Given the description of an element on the screen output the (x, y) to click on. 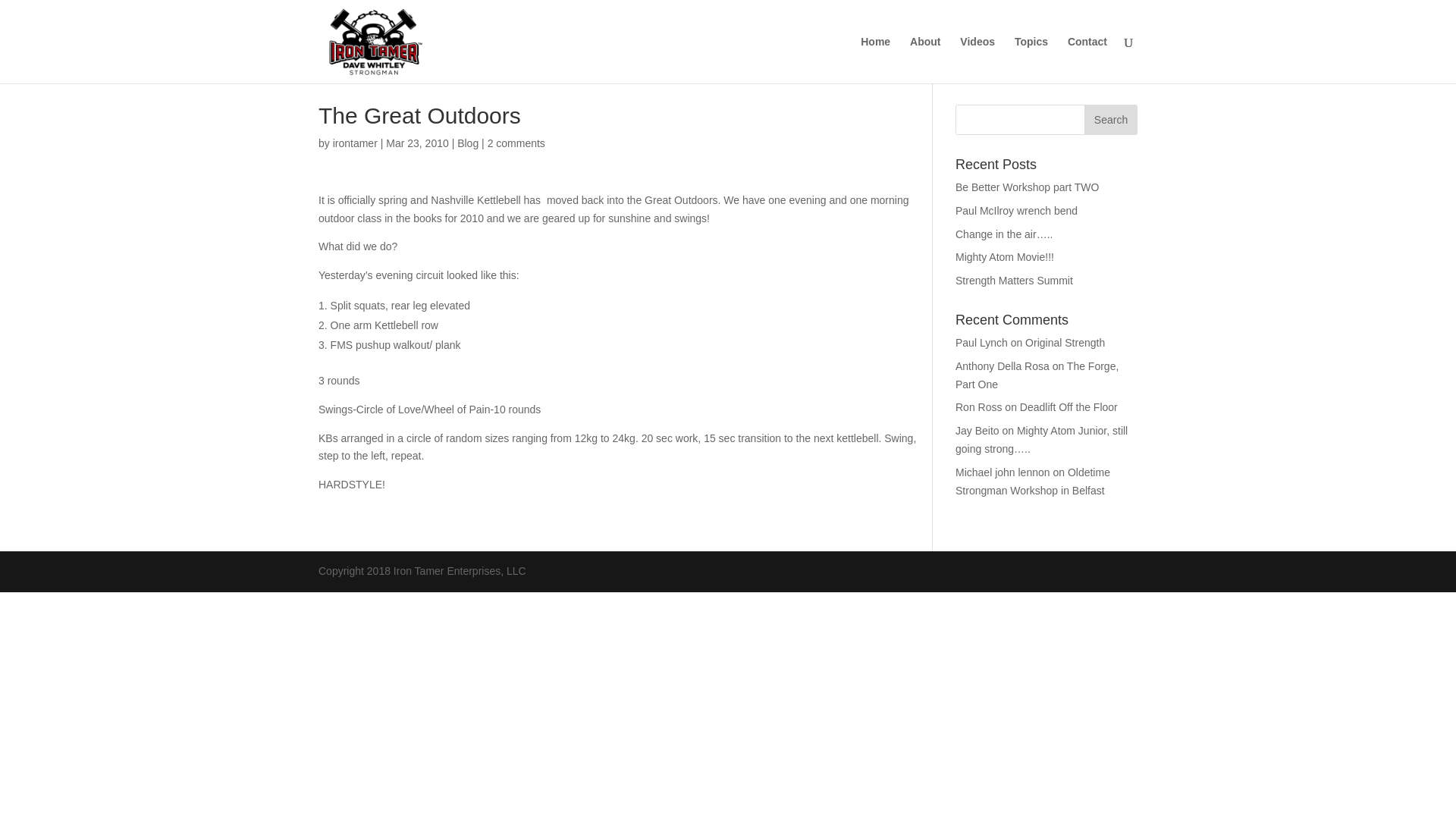
Oldetime Strongman Workshop in Belfast (1032, 481)
Mighty Atom Movie!!! (1004, 256)
Original Strength (1065, 342)
Paul McIlroy wrench bend (1016, 210)
Jay Beito (976, 430)
irontamer (355, 143)
Deadlift Off the Floor (1069, 407)
Be Better Workshop part TWO (1027, 186)
Blog (468, 143)
Search (1110, 119)
